Given the description of an element on the screen output the (x, y) to click on. 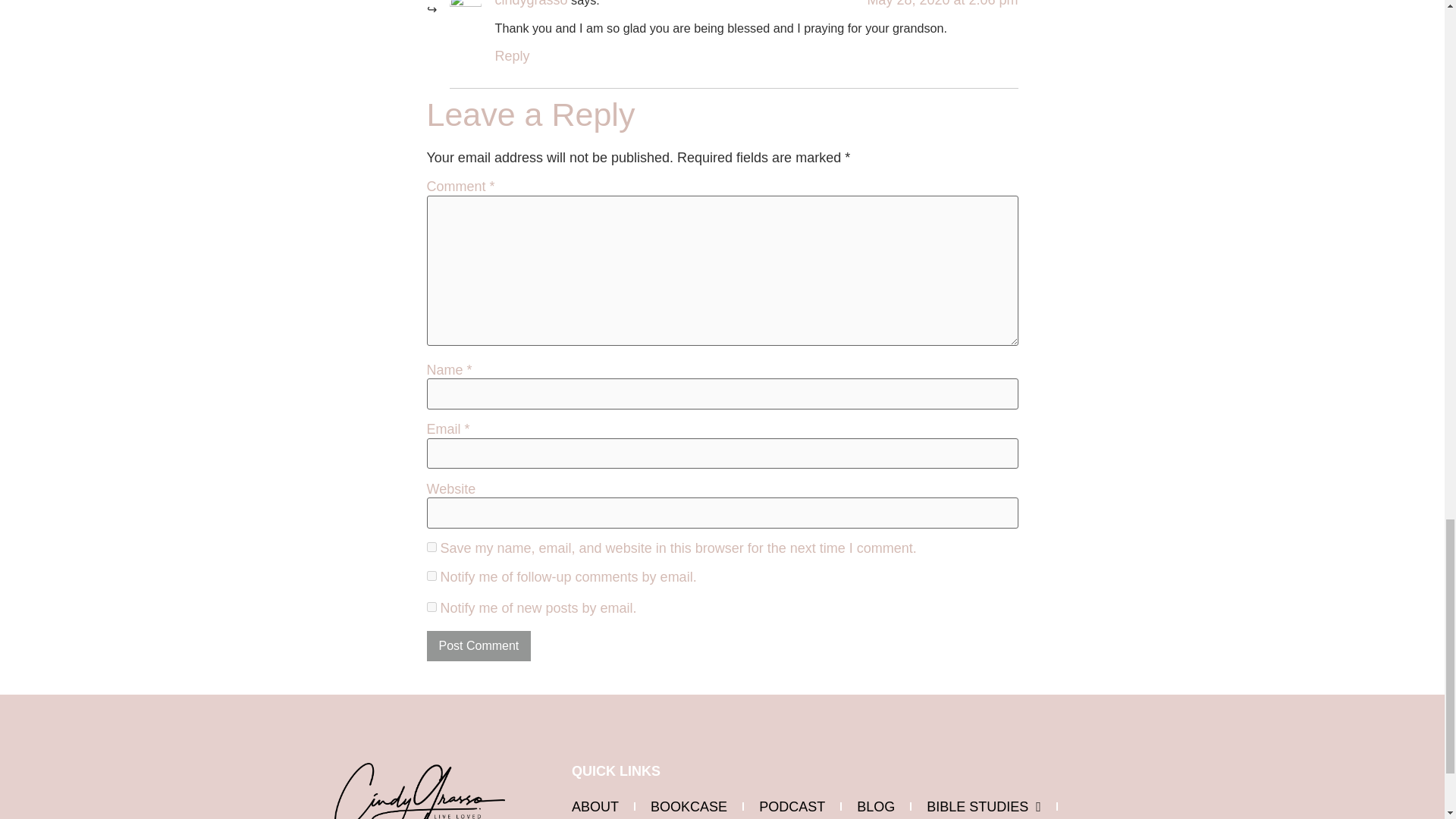
Post Comment (478, 645)
yes (430, 547)
Reply (512, 55)
BOOKCASE (688, 806)
May 28, 2020 at 2:06 pm (941, 3)
Post Comment (478, 645)
subscribe (430, 606)
subscribe (430, 575)
cindygrasso (531, 3)
ABOUT (594, 806)
